Given the description of an element on the screen output the (x, y) to click on. 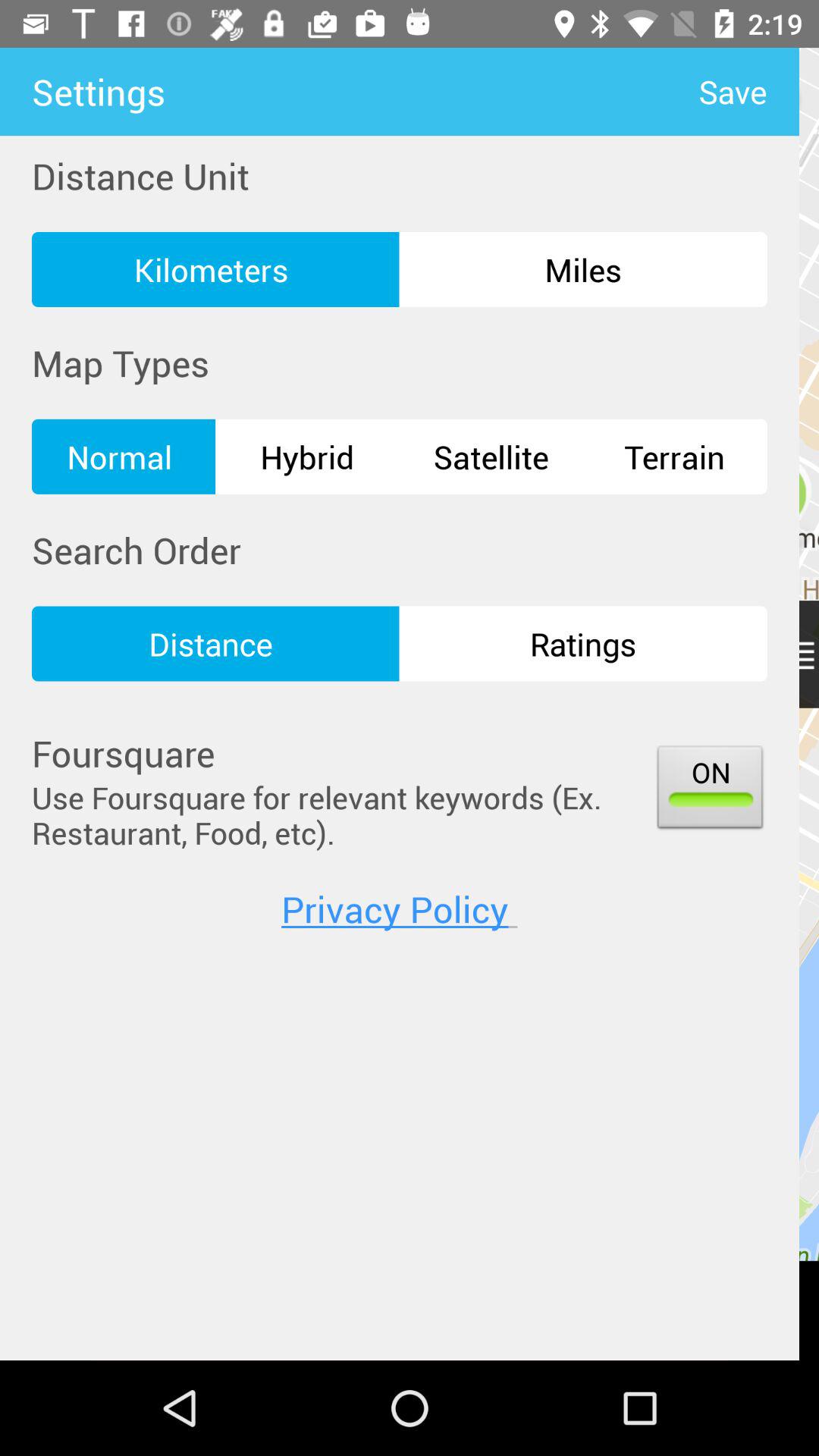
press icon next to hybrid item (123, 456)
